Given the description of an element on the screen output the (x, y) to click on. 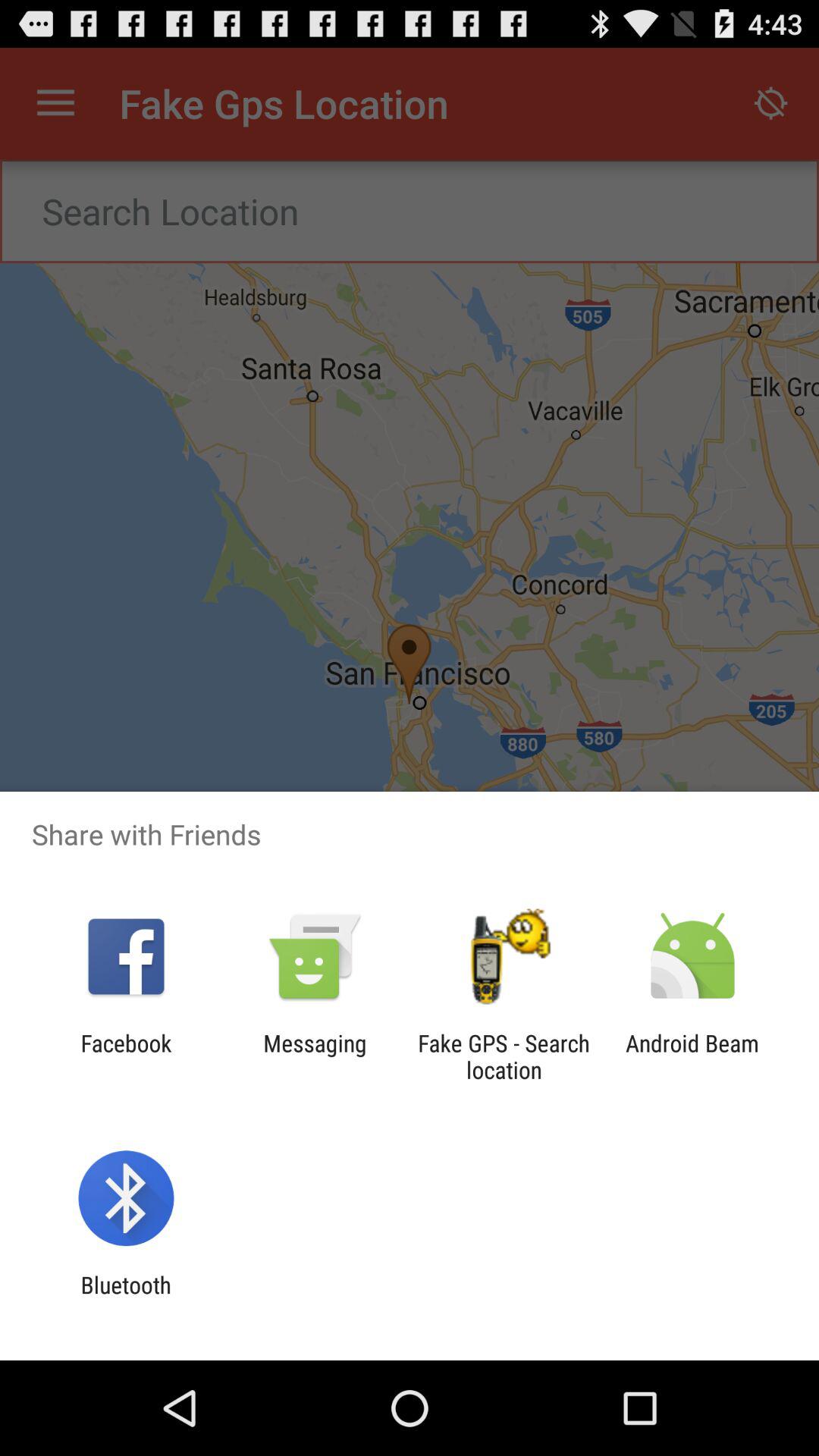
press the fake gps search item (503, 1056)
